Given the description of an element on the screen output the (x, y) to click on. 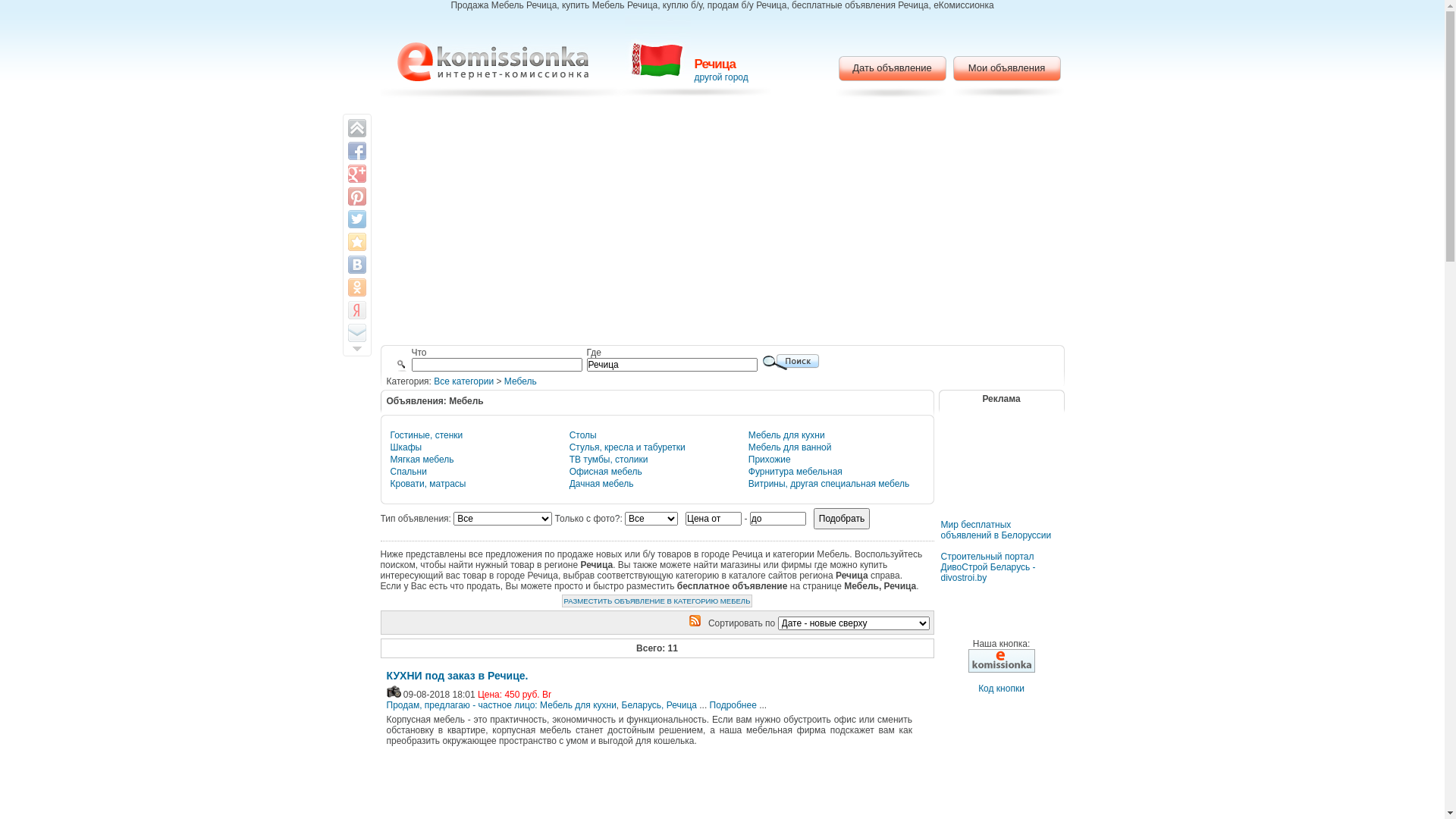
Save to Yandex Bookmarks Element type: hover (356, 310)
Email this to a friend Element type: hover (356, 332)
Share on VK Element type: hover (356, 264)
Pin It Element type: hover (356, 196)
Share to Odnoklassniki.ru Element type: hover (356, 287)
Share on Twitter Element type: hover (356, 219)
Share on Google+ Element type: hover (356, 173)
Save to Browser Favorites Element type: hover (356, 241)
Advertisement Element type: hover (1000, 474)
Share on Facebook Element type: hover (356, 150)
Back on top Element type: hover (356, 128)
Advertisement Element type: hover (722, 223)
